Given the description of an element on the screen output the (x, y) to click on. 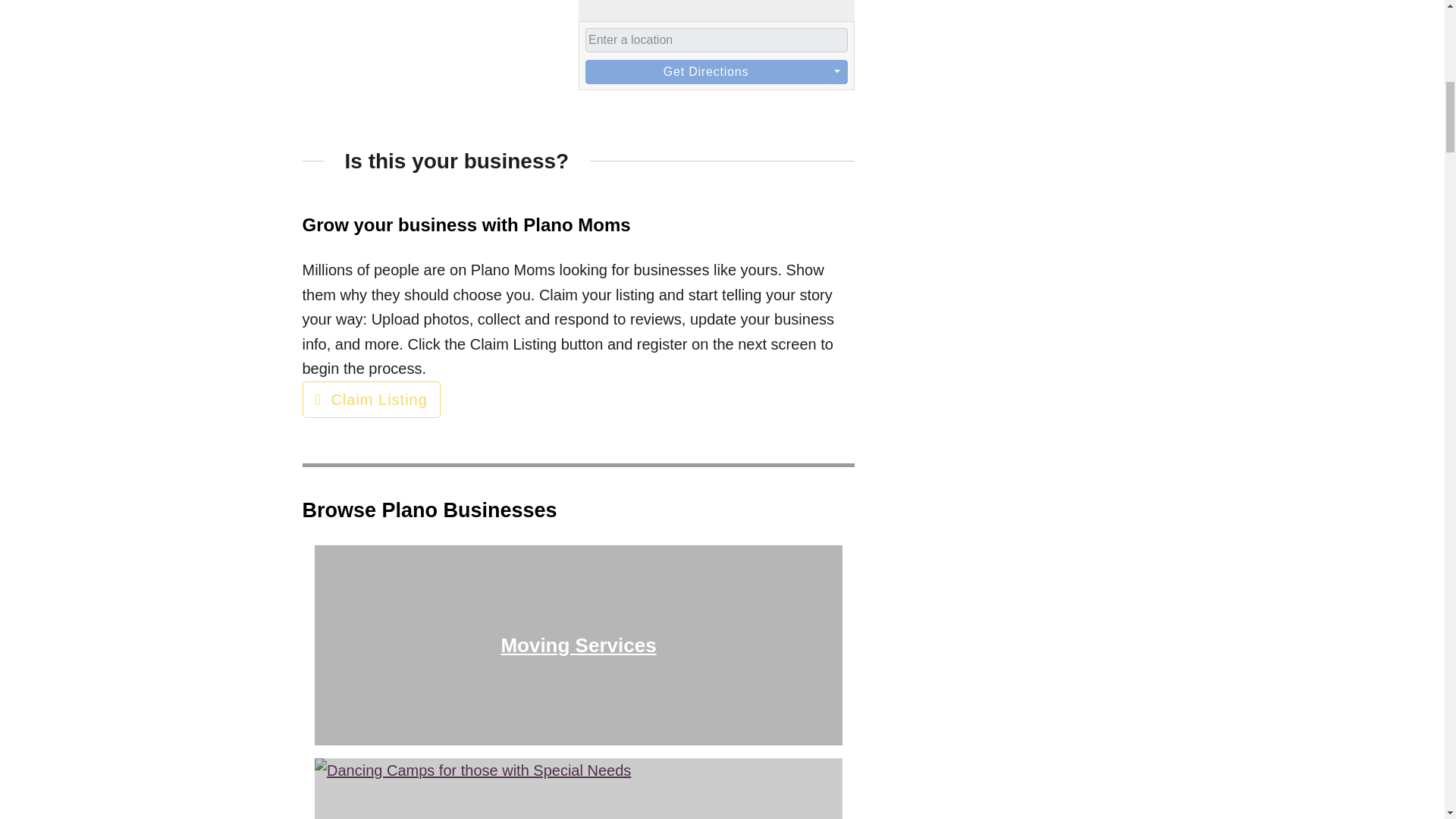
Einstein Moving Company (577, 645)
Autism and Special Needs (577, 788)
Moving Services (578, 644)
